Given the description of an element on the screen output the (x, y) to click on. 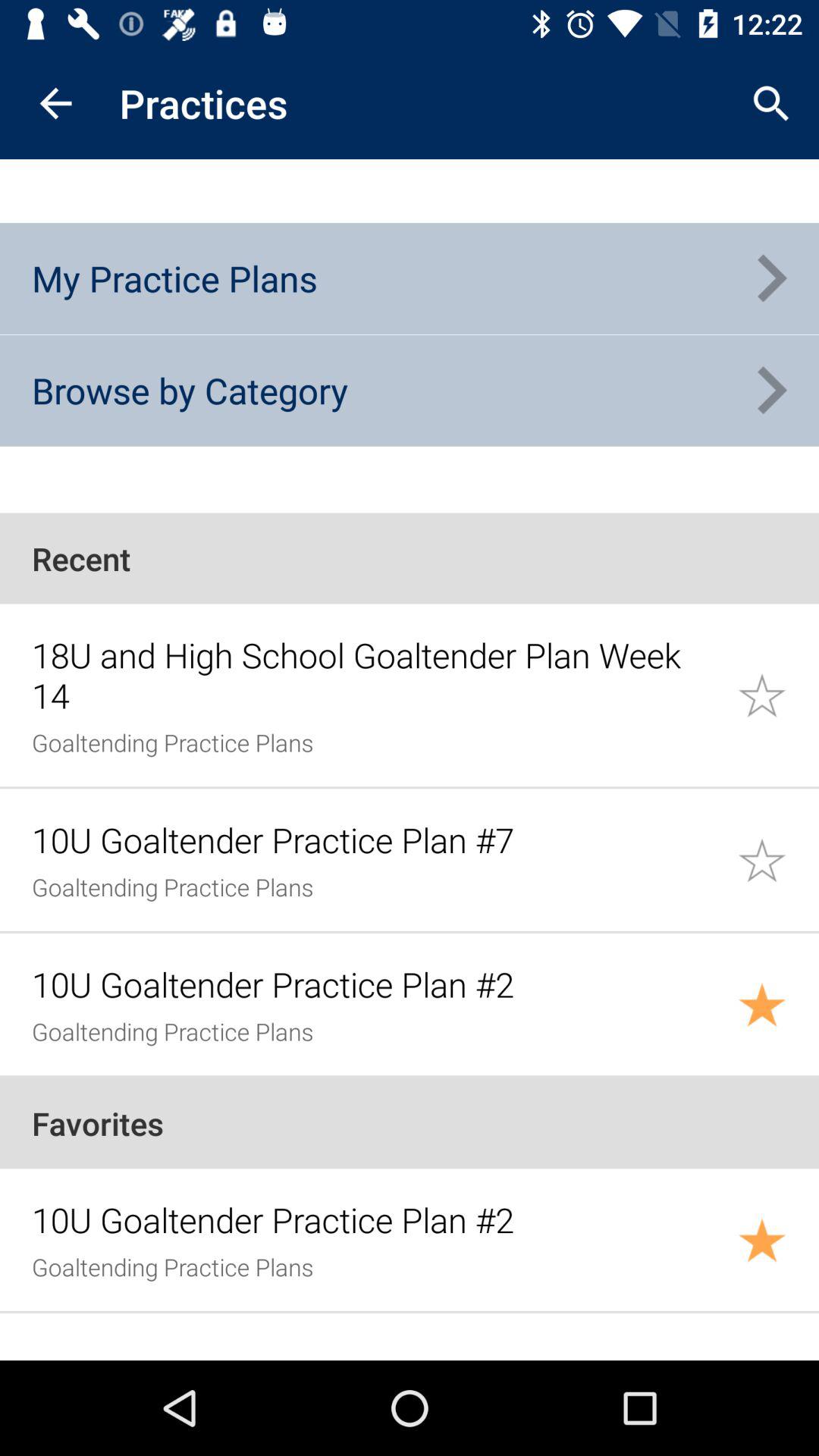
click the icon to the right of browse by category icon (771, 390)
